Given the description of an element on the screen output the (x, y) to click on. 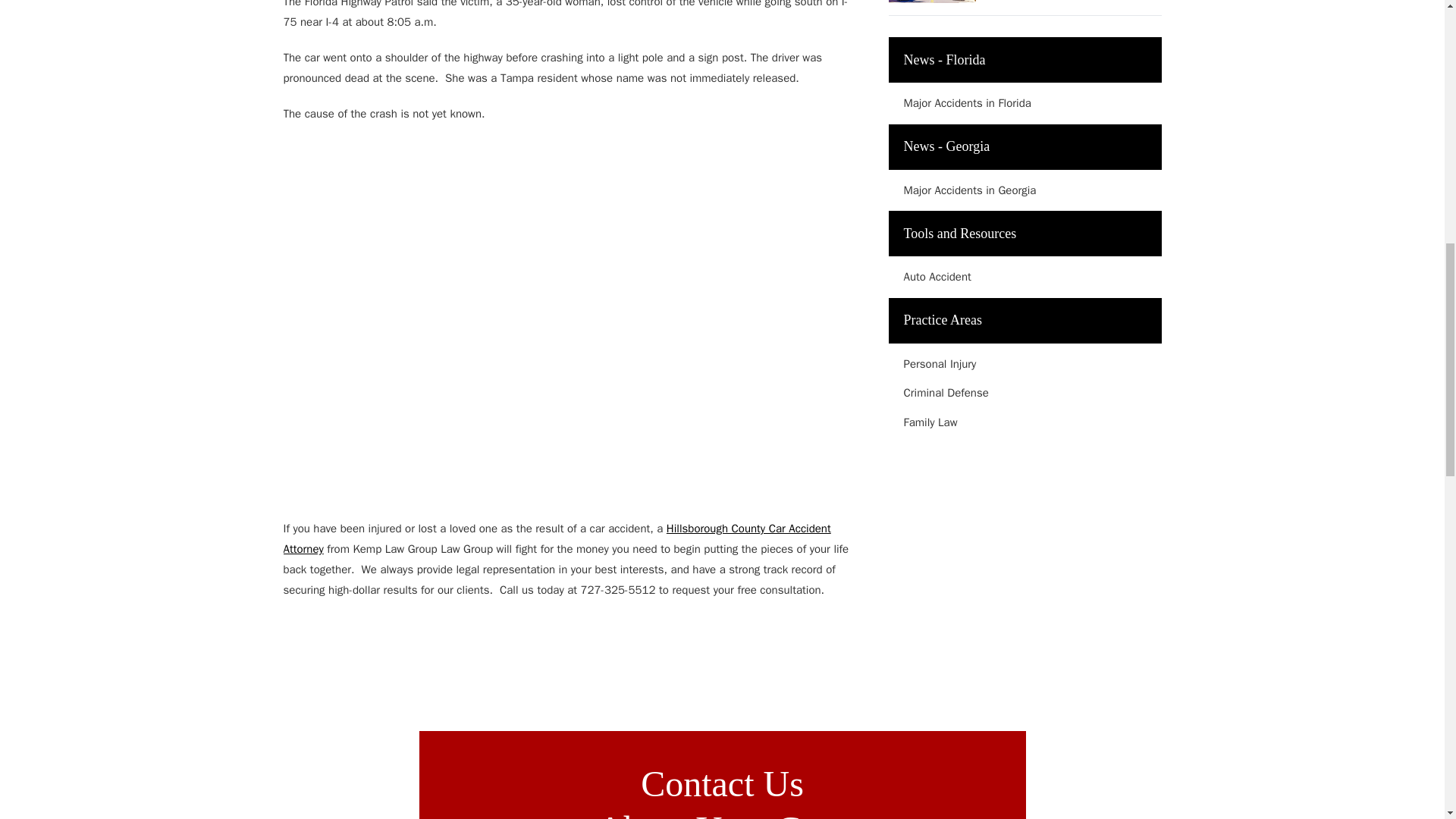
News - Florida (1024, 59)
Hillsborough County Car Accident Attorney (557, 538)
